Given the description of an element on the screen output the (x, y) to click on. 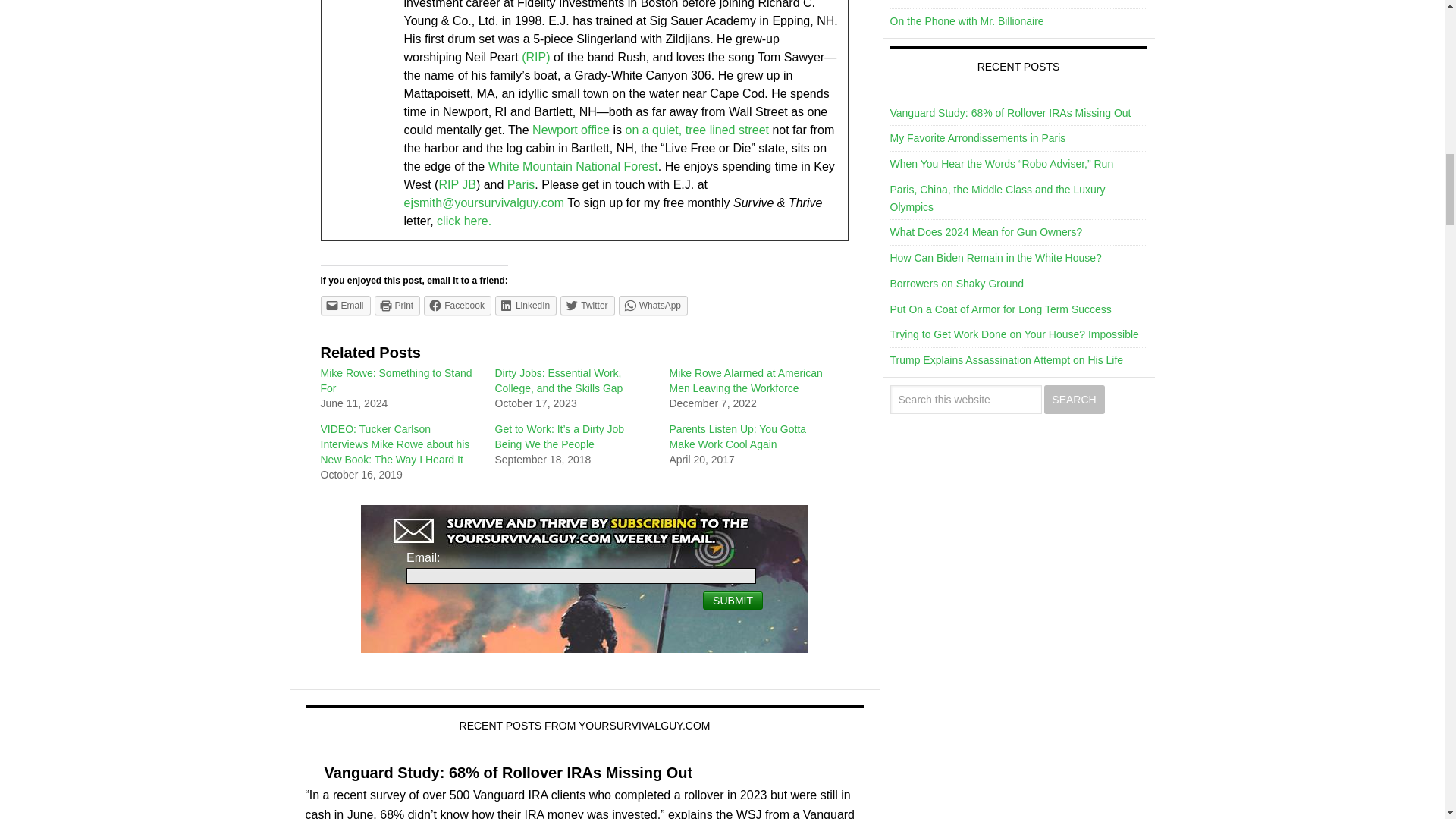
Mike Rowe: Something to Stand For (395, 379)
Click to email this to a friend (344, 305)
Click to share on LinkedIn (525, 305)
Click to share on Twitter (587, 305)
Click to share on Facebook (457, 305)
Dirty Jobs: Essential Work, College, and the Skills Gap (559, 379)
Search (1073, 399)
Search (1073, 399)
Submit (732, 600)
Click to share on WhatsApp (652, 305)
Mike Rowe Alarmed at American Men Leaving the Workforce (745, 379)
Click to print (397, 305)
